Given the description of an element on the screen output the (x, y) to click on. 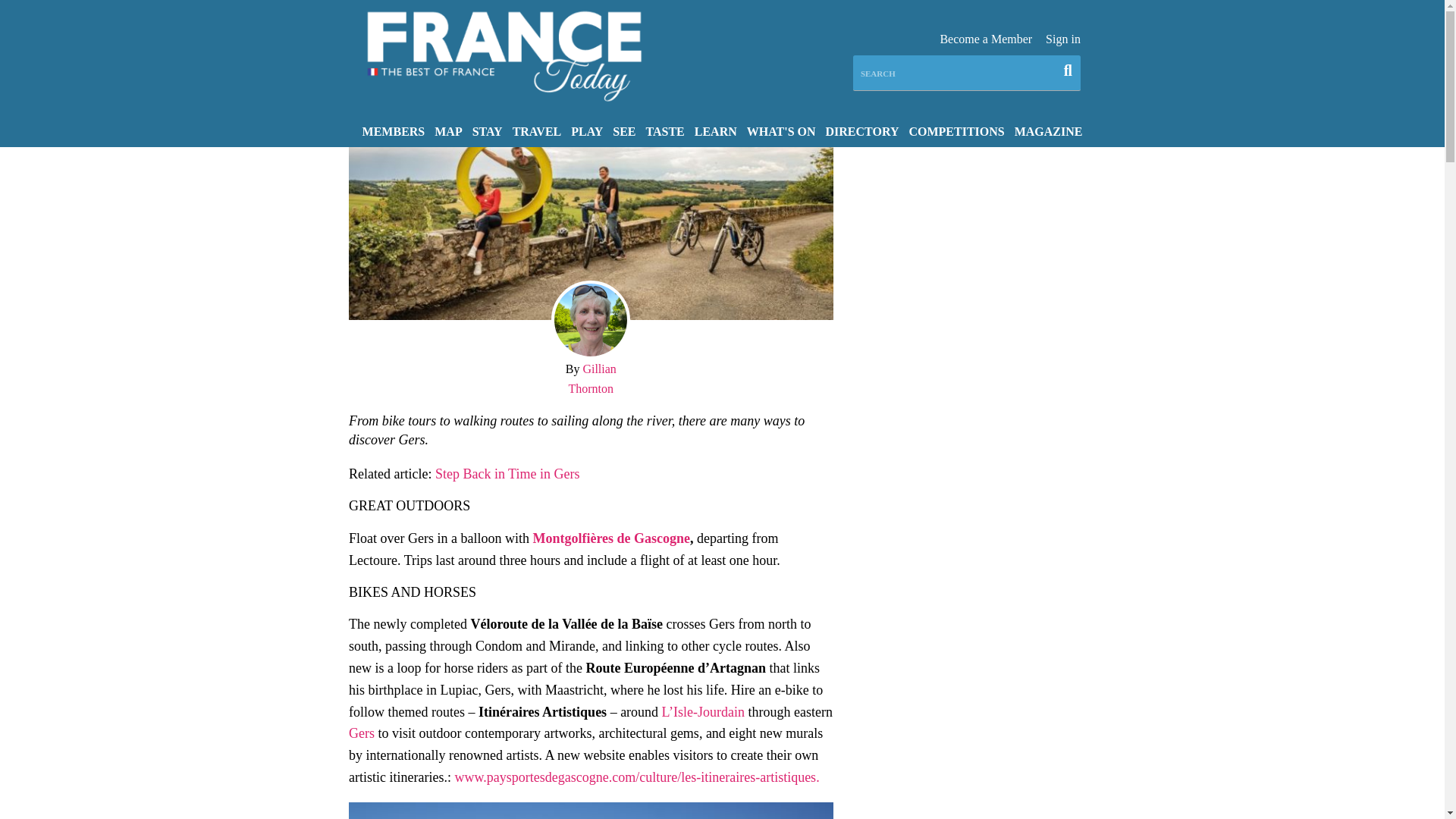
TRAVEL (537, 130)
MEMBERS (393, 130)
STAY (486, 130)
MAP (447, 130)
Gillian Thornton (592, 378)
Become a Member (985, 38)
Sign in (1062, 38)
